Given the description of an element on the screen output the (x, y) to click on. 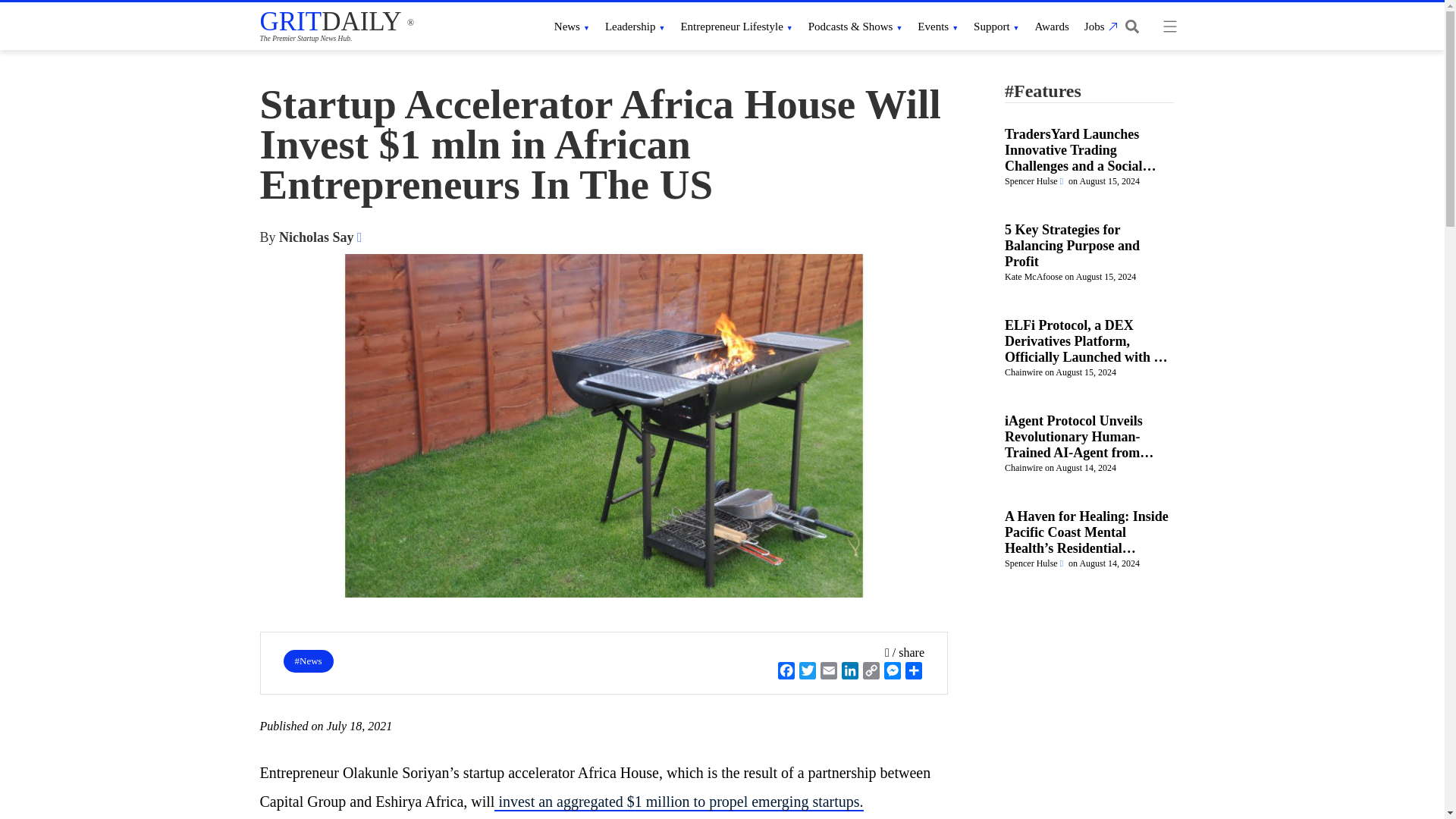
Jobs (1098, 25)
Support (996, 25)
News (571, 25)
Entrepreneur Lifestyle (735, 25)
Awards (1051, 25)
Events (937, 25)
Leadership (635, 25)
